Given the description of an element on the screen output the (x, y) to click on. 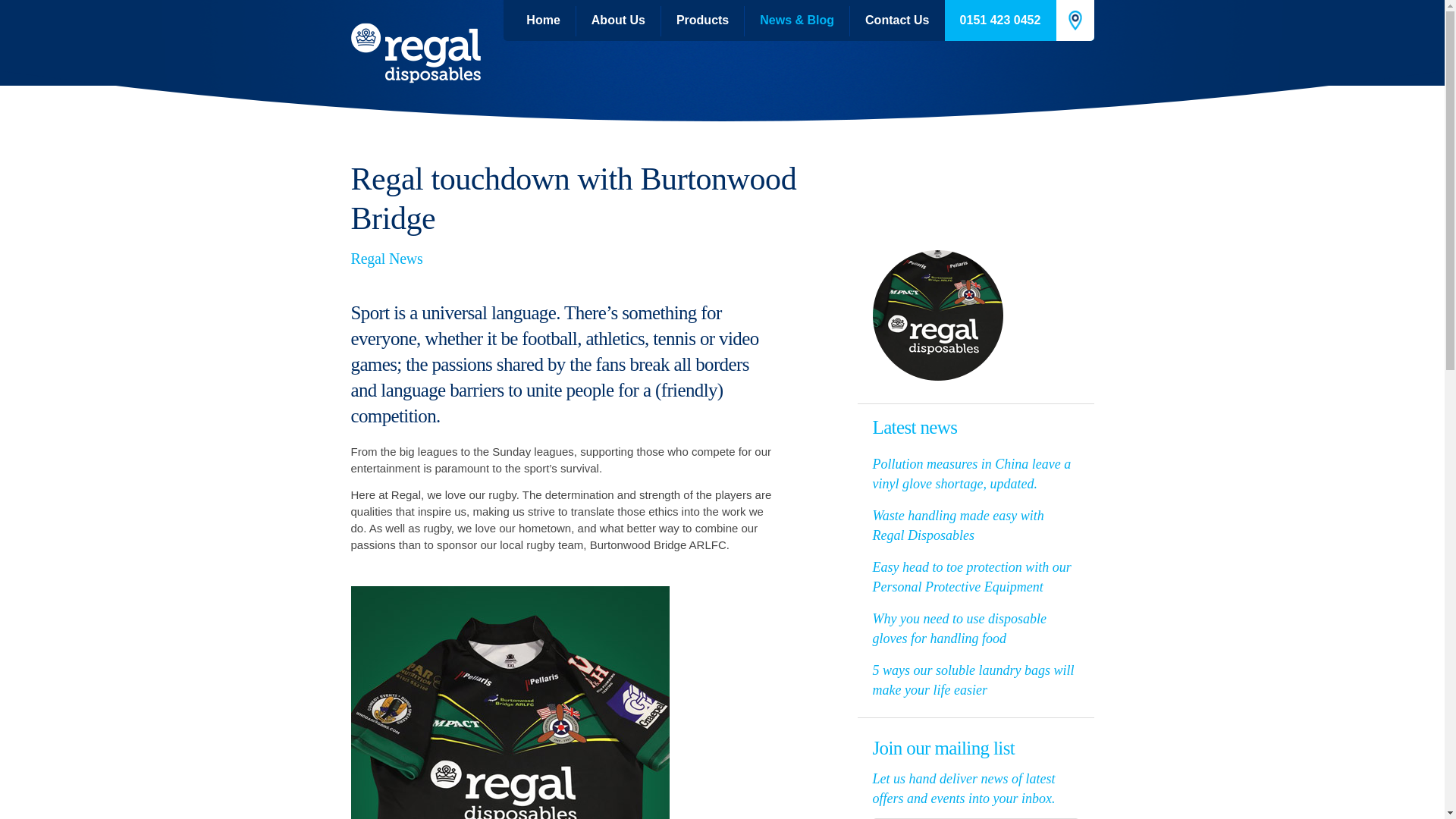
Contact Us (889, 20)
Why you need to use disposable gloves for handling food (958, 628)
0151 423 0452 (1000, 19)
5 ways our soluble laundry bags will make your life easier (973, 679)
Products (702, 20)
Waste handling made easy with Regal Disposables (957, 524)
Home (539, 20)
About Us (618, 20)
